Given the description of an element on the screen output the (x, y) to click on. 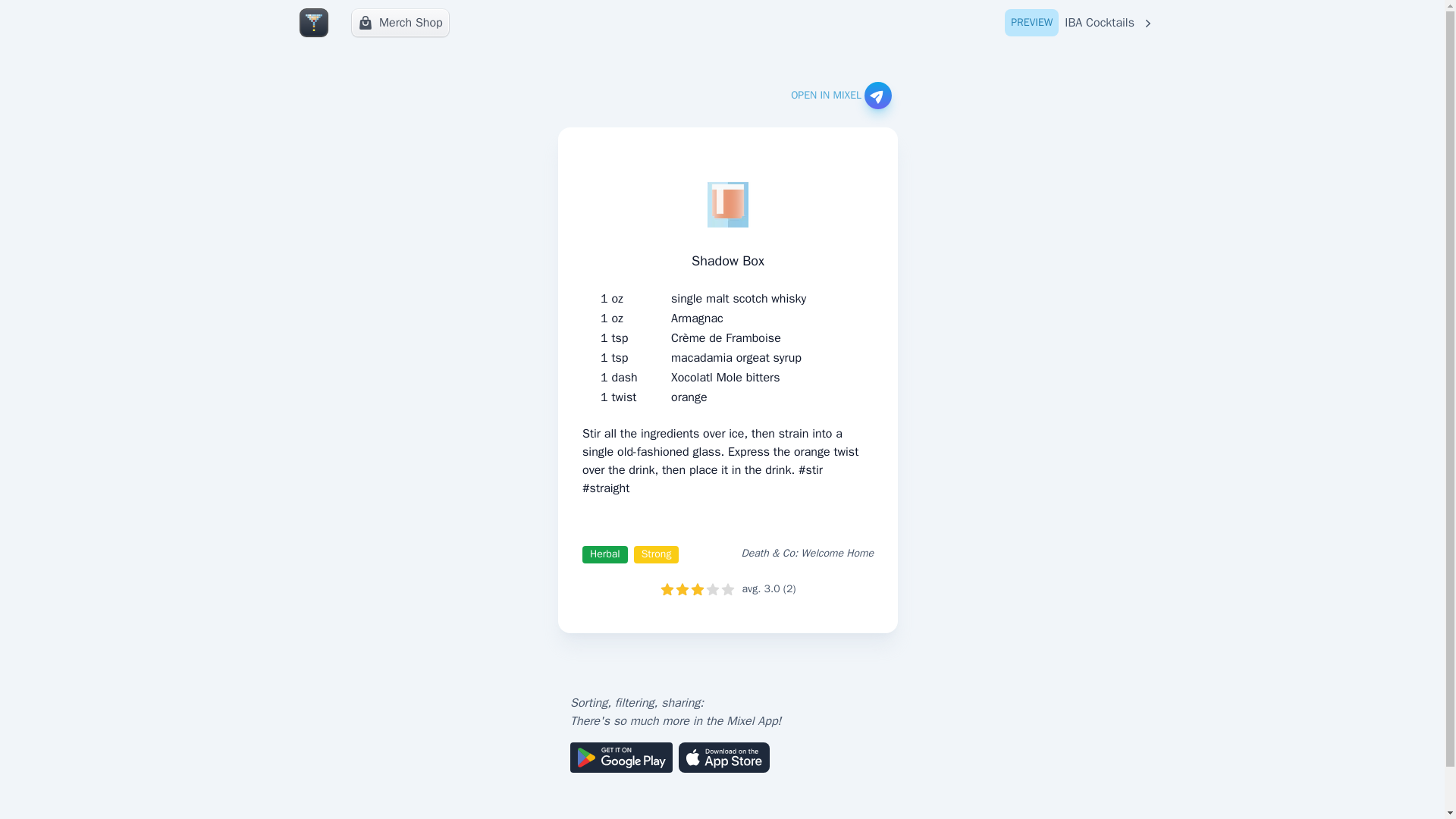
macadamia orgeat syrup (736, 357)
single malt scotch whisky (738, 298)
orange (689, 397)
OPEN IN MIXEL (840, 94)
Merch Shop (400, 22)
Armagnac (697, 318)
Xocolatl Mole bitters (724, 377)
